Given the description of an element on the screen output the (x, y) to click on. 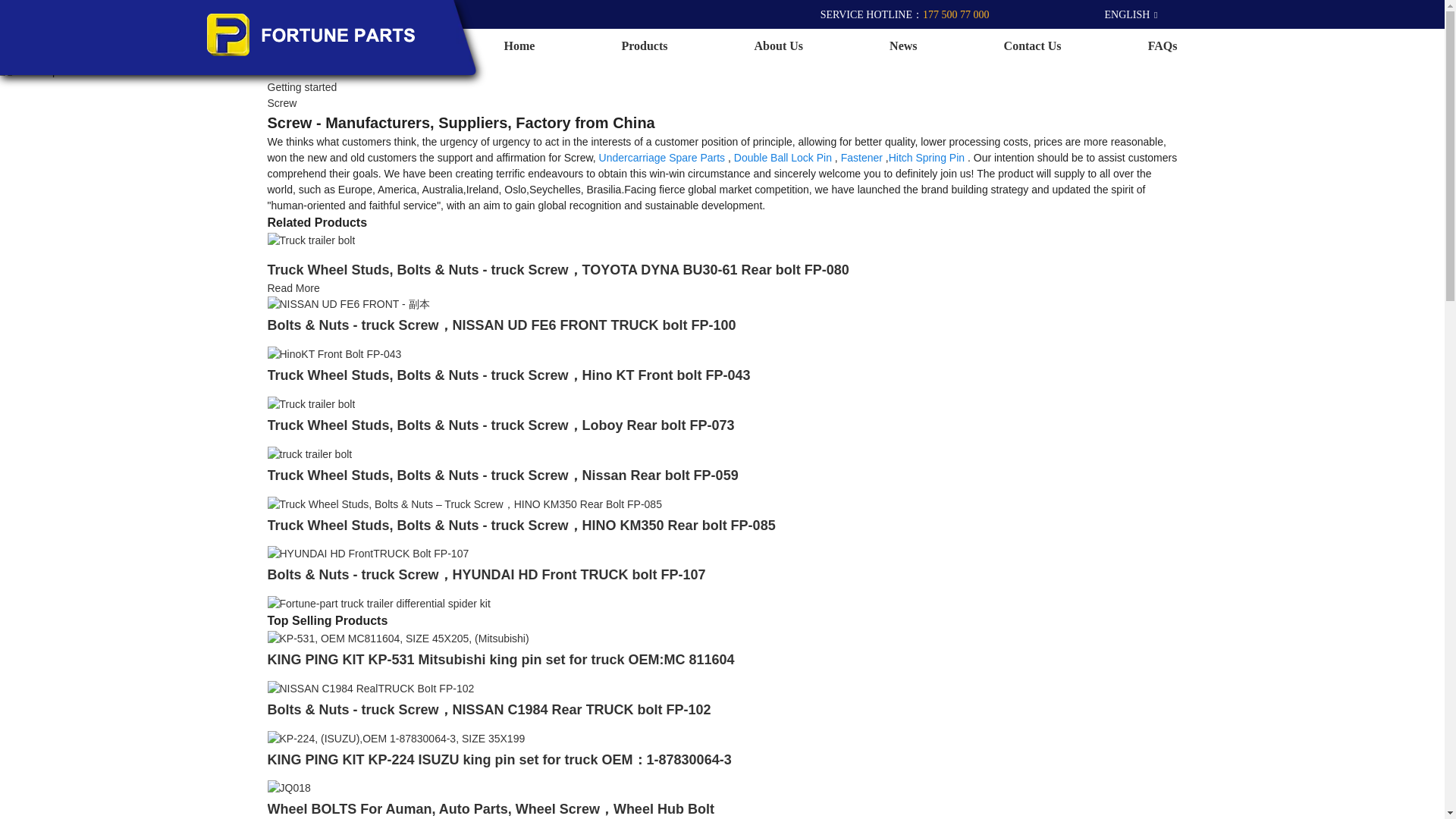
Fastener (861, 157)
Products (643, 45)
Undercarriage Spare Parts (661, 157)
Read More (292, 287)
Contact Us (1032, 45)
Hitch Spring Pin (925, 157)
ENGLISH (1118, 14)
Double Ball Lock Pin (782, 157)
About Us (778, 45)
Fastener (861, 157)
